Given the description of an element on the screen output the (x, y) to click on. 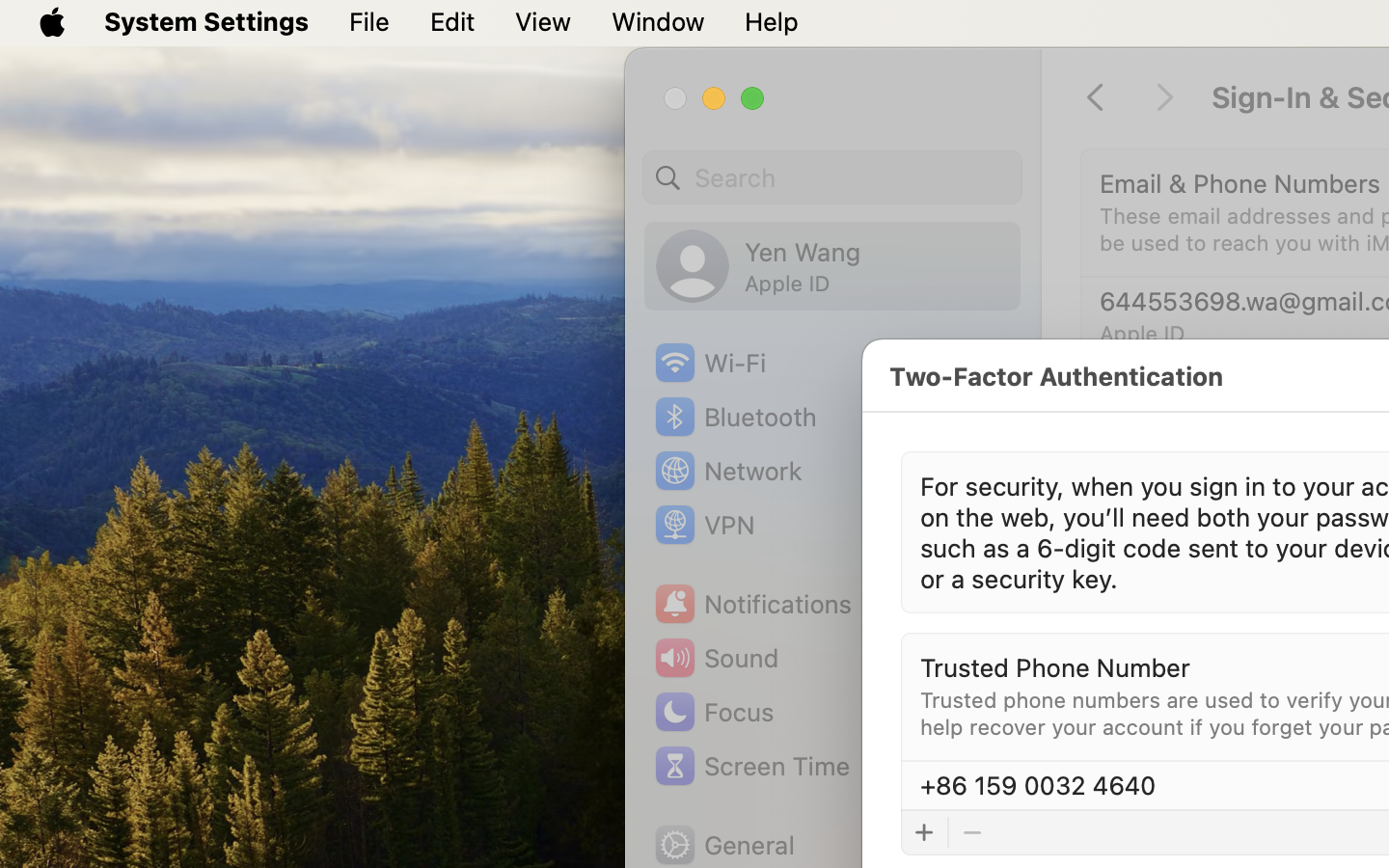
Trusted Phone Number Element type: AXStaticText (1055, 666)
Yen Wang, Apple ID Element type: AXStaticText (757, 265)
Network Element type: AXStaticText (727, 470)
Notifications Element type: AXStaticText (752, 603)
Focus Element type: AXStaticText (712, 711)
